Given the description of an element on the screen output the (x, y) to click on. 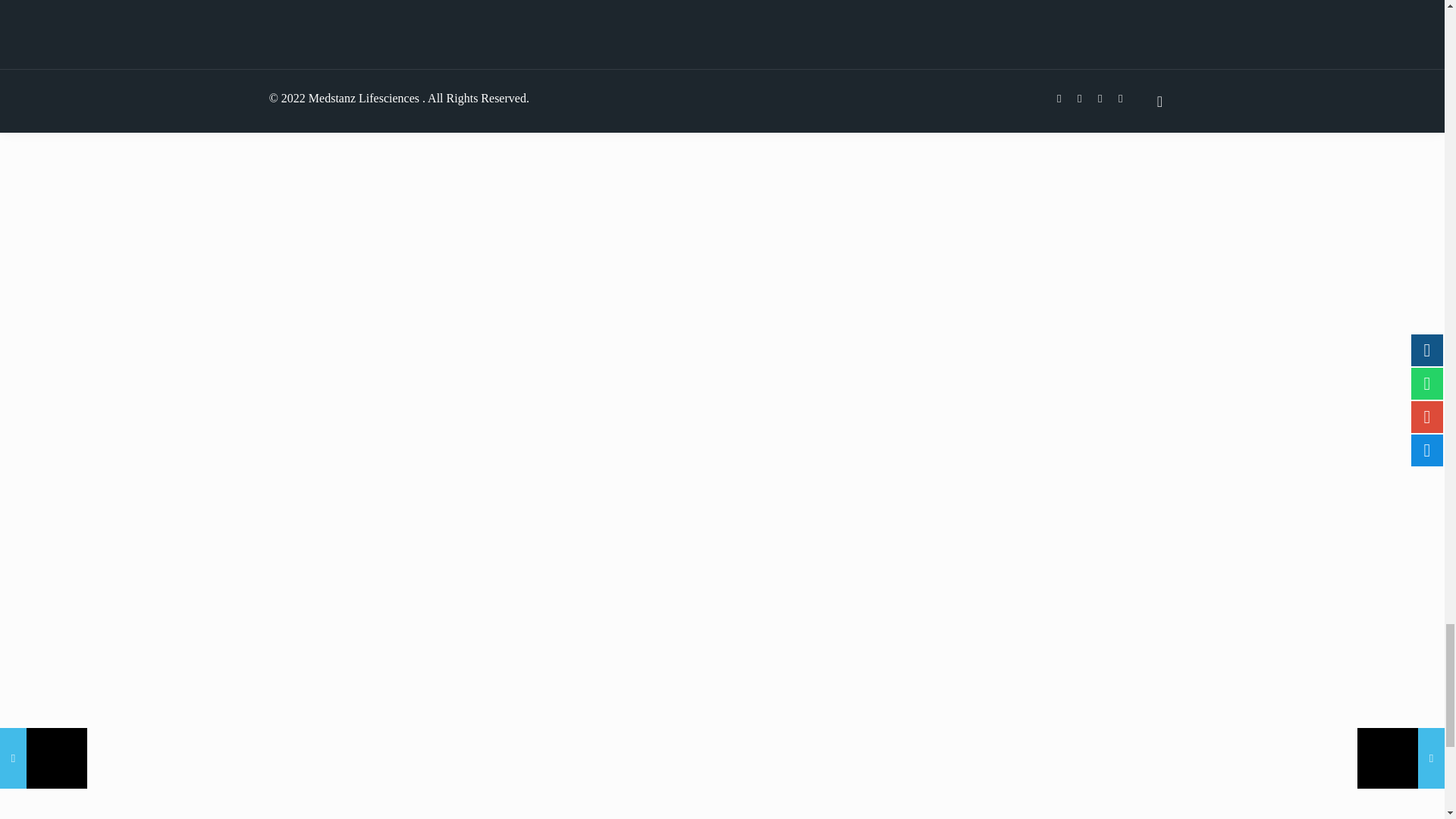
Twitter (1079, 98)
Facebook (1059, 98)
LinkedIn (1100, 98)
Pinterest (1120, 98)
